Given the description of an element on the screen output the (x, y) to click on. 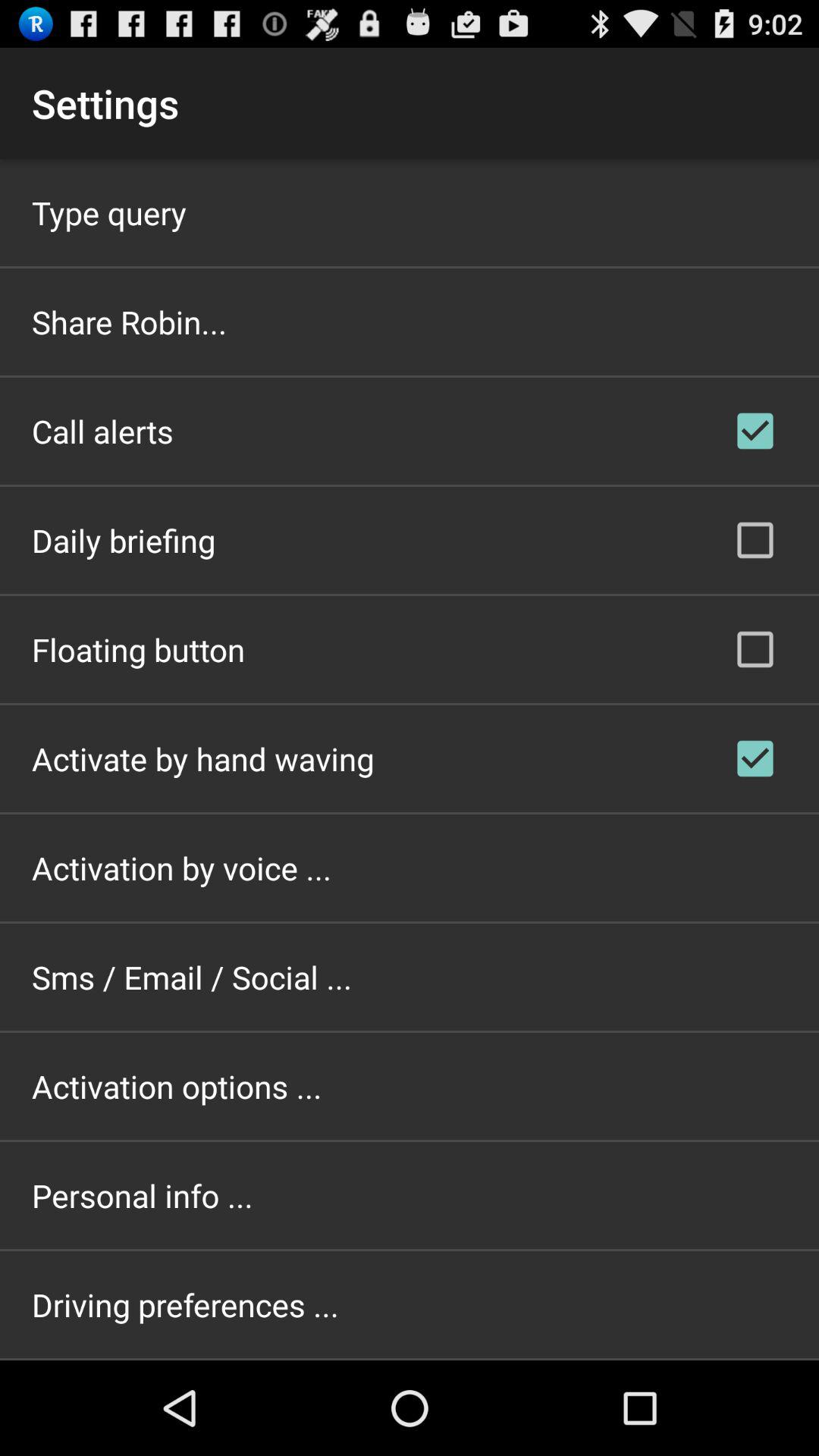
select app above the activate by hand app (138, 649)
